Given the description of an element on the screen output the (x, y) to click on. 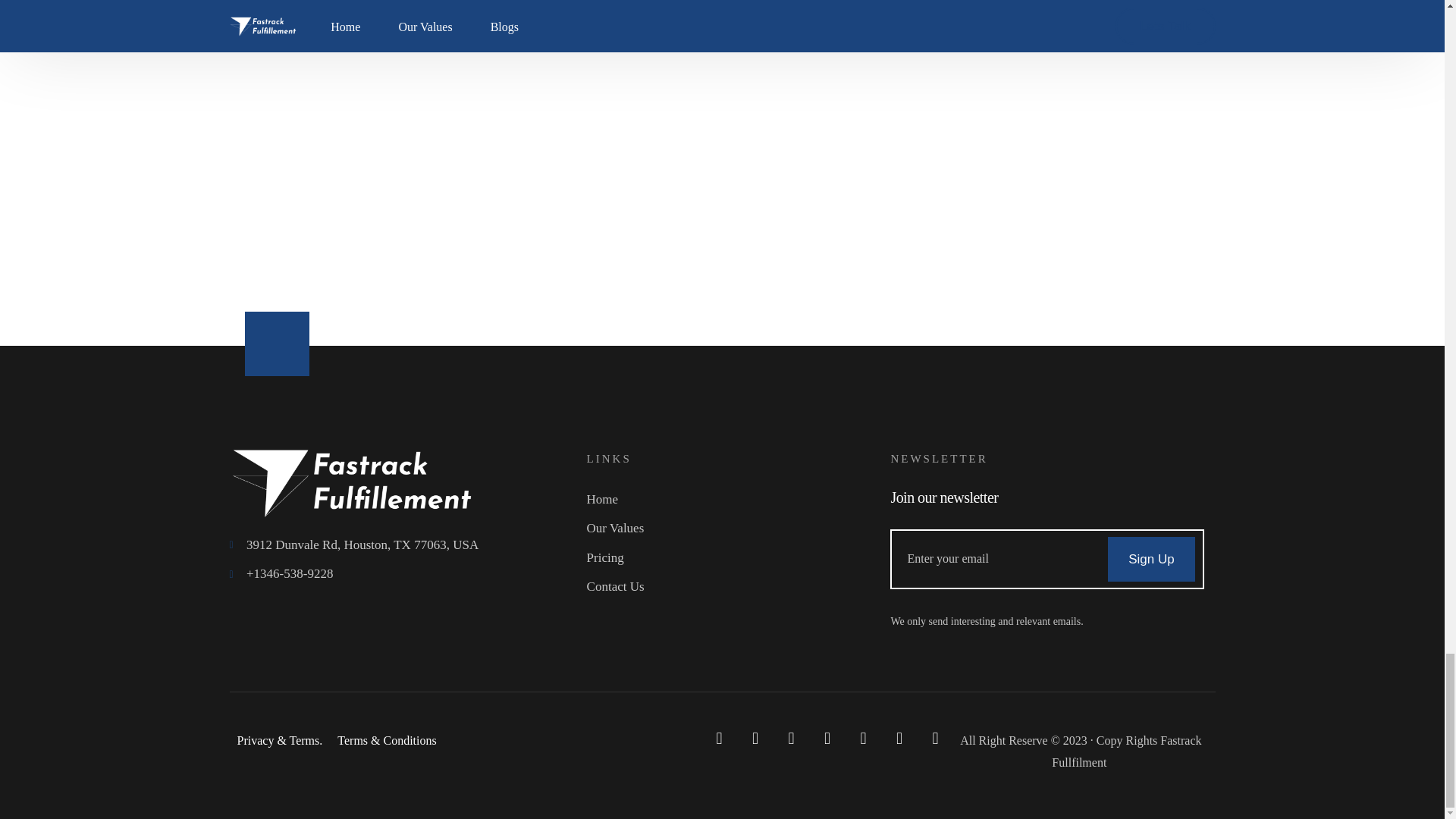
3912 Dunvale Rd, Houston, TX 77063, USA (403, 545)
Our Values (731, 528)
Home (731, 499)
Contact Us (731, 586)
Pricing (731, 558)
Sign Up (1150, 559)
